Given the description of an element on the screen output the (x, y) to click on. 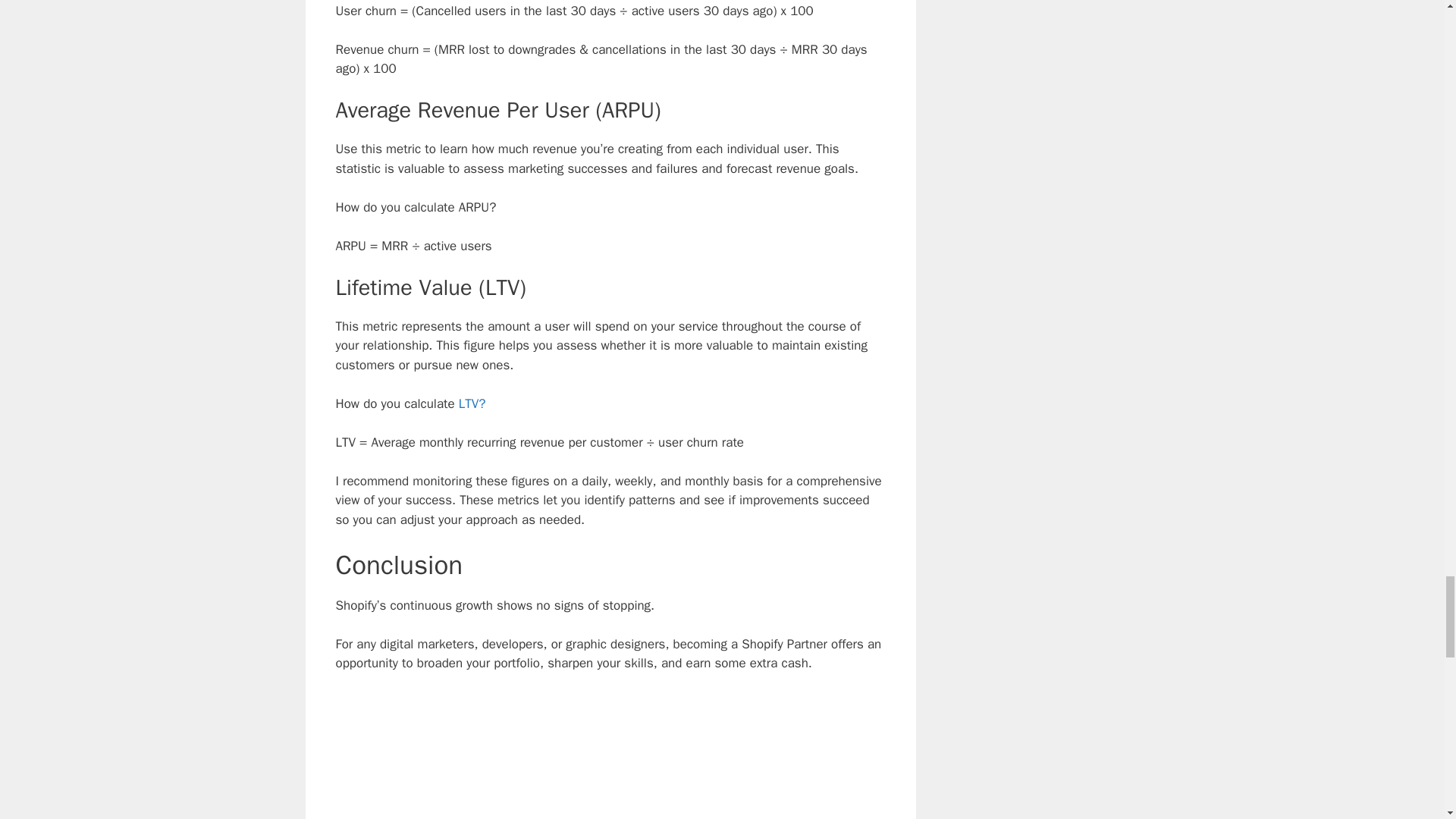
LTV? (472, 403)
